Given the description of an element on the screen output the (x, y) to click on. 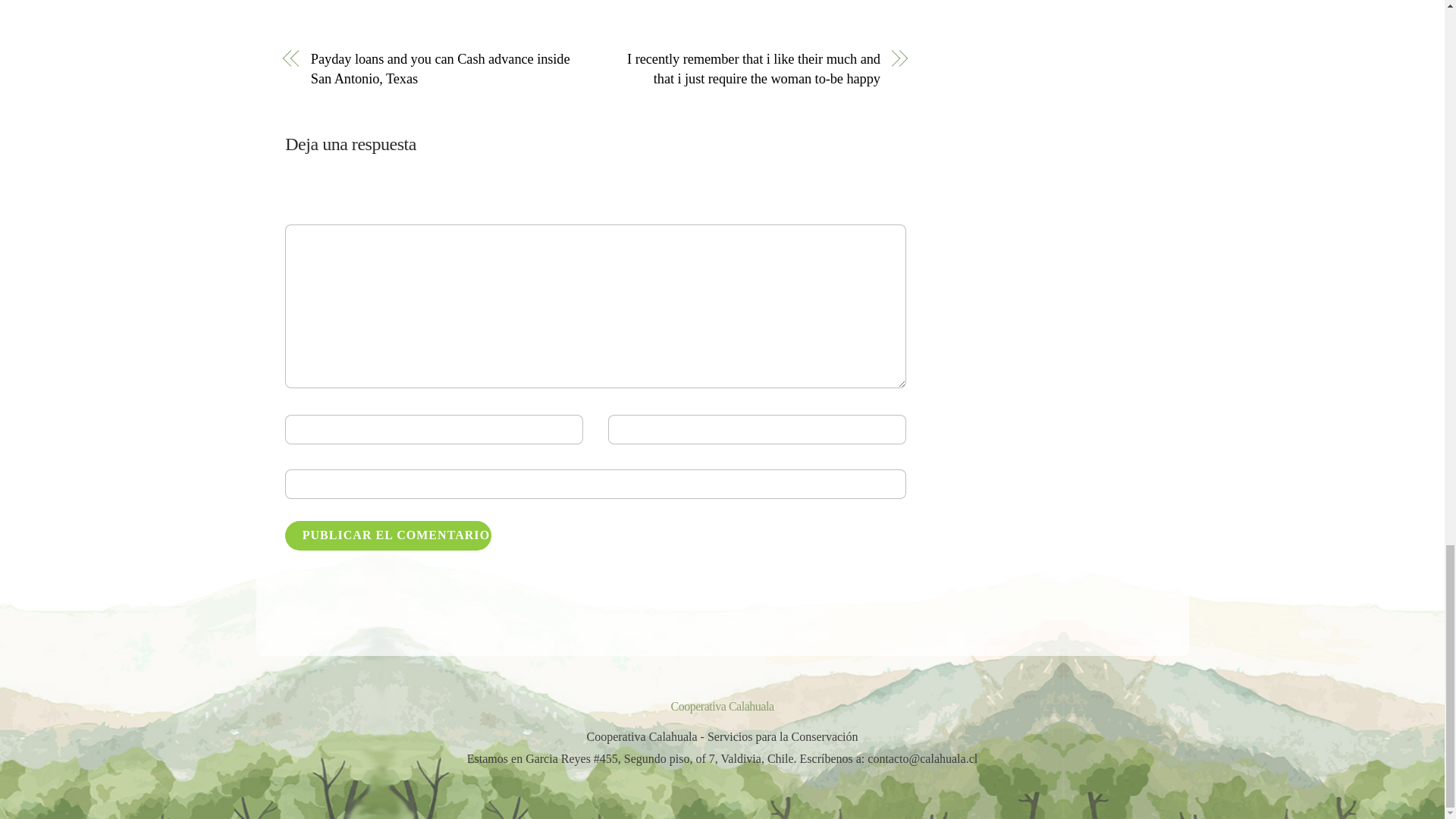
Publicar el comentario (388, 535)
Cooperativa Calahuala (721, 706)
Publicar el comentario (388, 535)
Cooperativa Calahuala (721, 706)
